Given the description of an element on the screen output the (x, y) to click on. 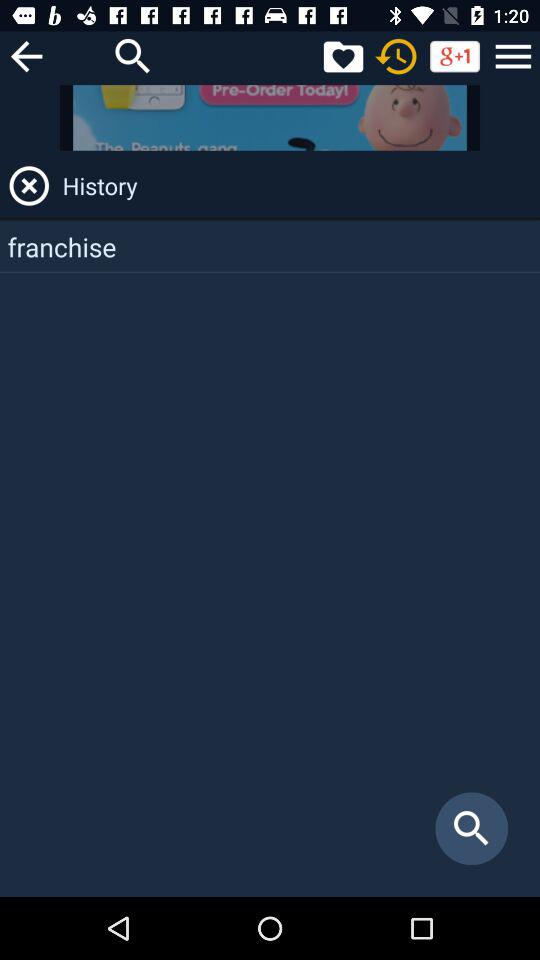
open tab bar (513, 56)
